Given the description of an element on the screen output the (x, y) to click on. 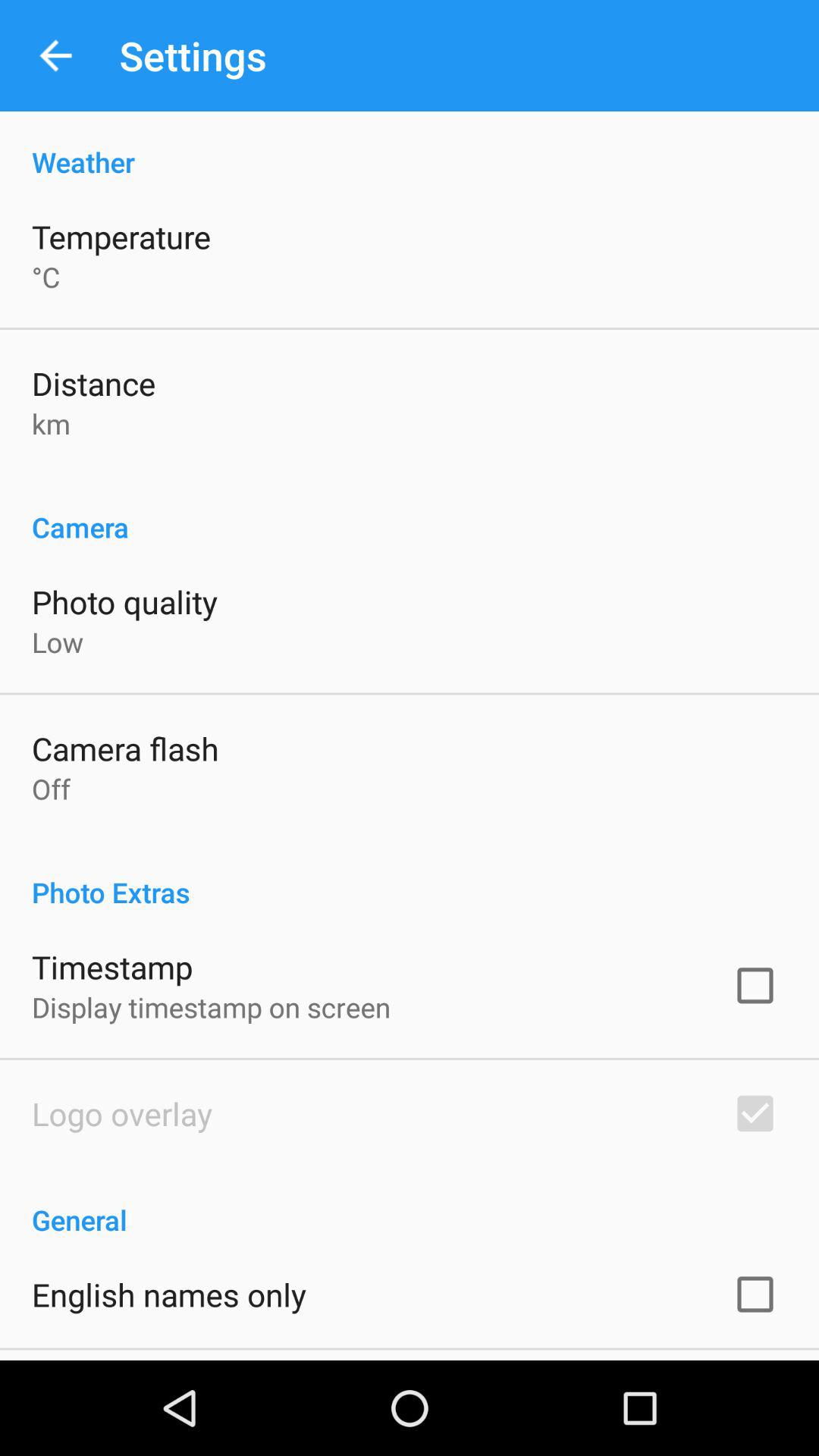
press the general item (409, 1203)
